Given the description of an element on the screen output the (x, y) to click on. 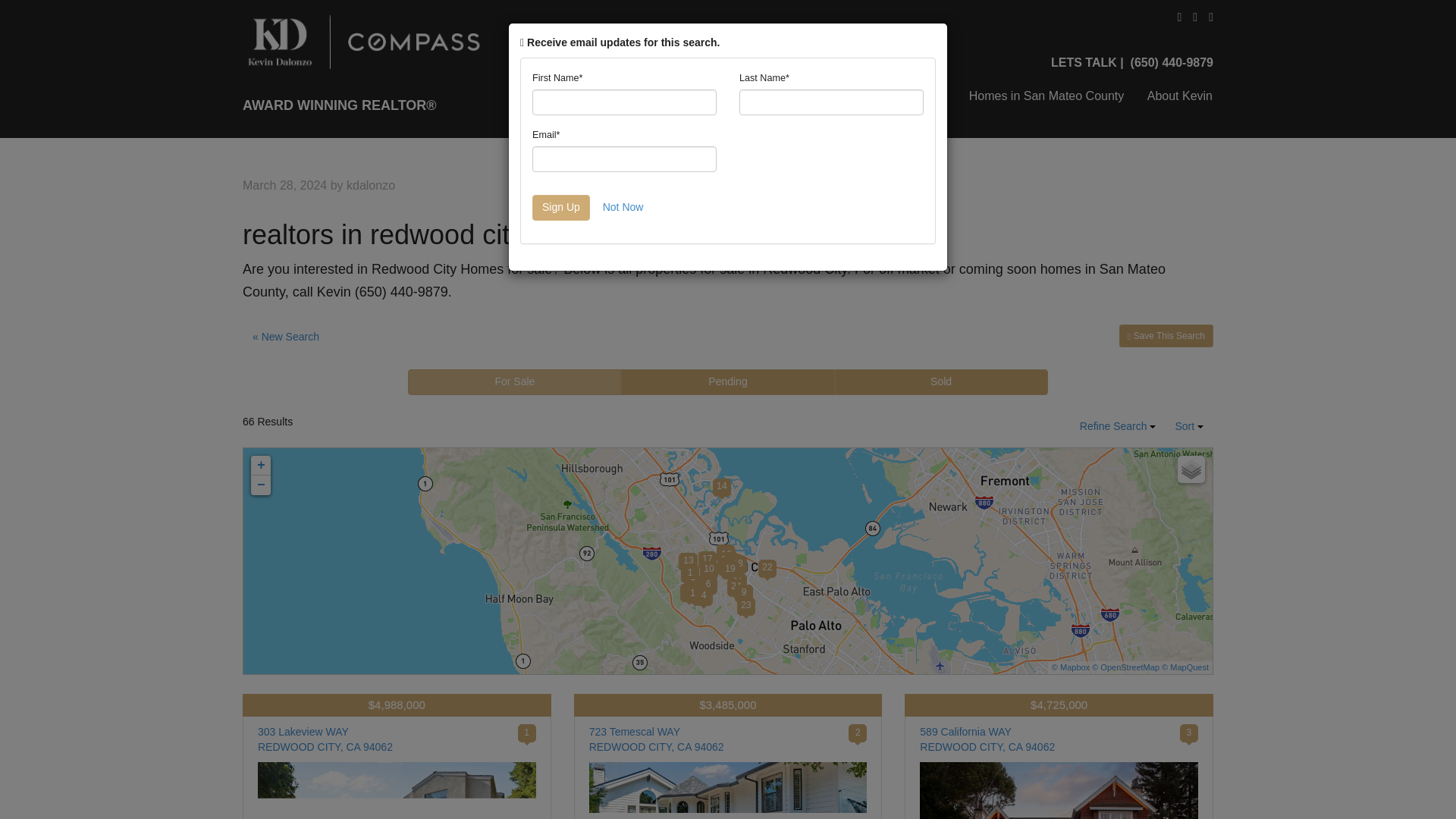
Save This Search (1165, 335)
About Kevin (1175, 92)
Sort (325, 742)
Layers (1188, 426)
Sold (1191, 469)
Pending (941, 381)
Zoom out (727, 381)
Condos in San Mateo County (260, 485)
Zoom in (866, 92)
